Given the description of an element on the screen output the (x, y) to click on. 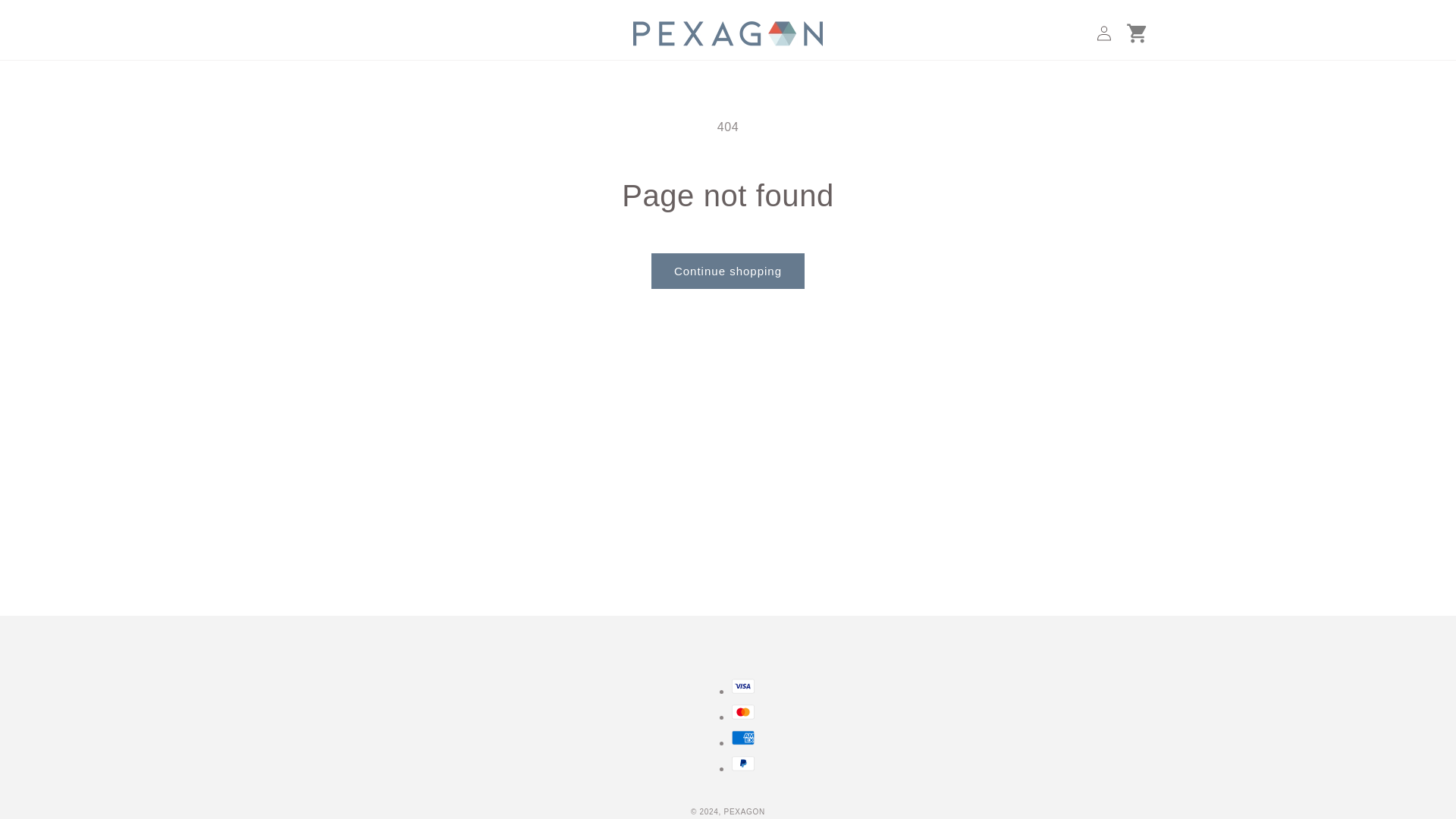
Continue shopping (727, 271)
Cart (1137, 32)
Skip to content (45, 17)
Mastercard (743, 711)
PEXAGON (744, 811)
PayPal (743, 763)
American Express (743, 737)
Visa (743, 686)
Log in (1104, 32)
